Given the description of an element on the screen output the (x, y) to click on. 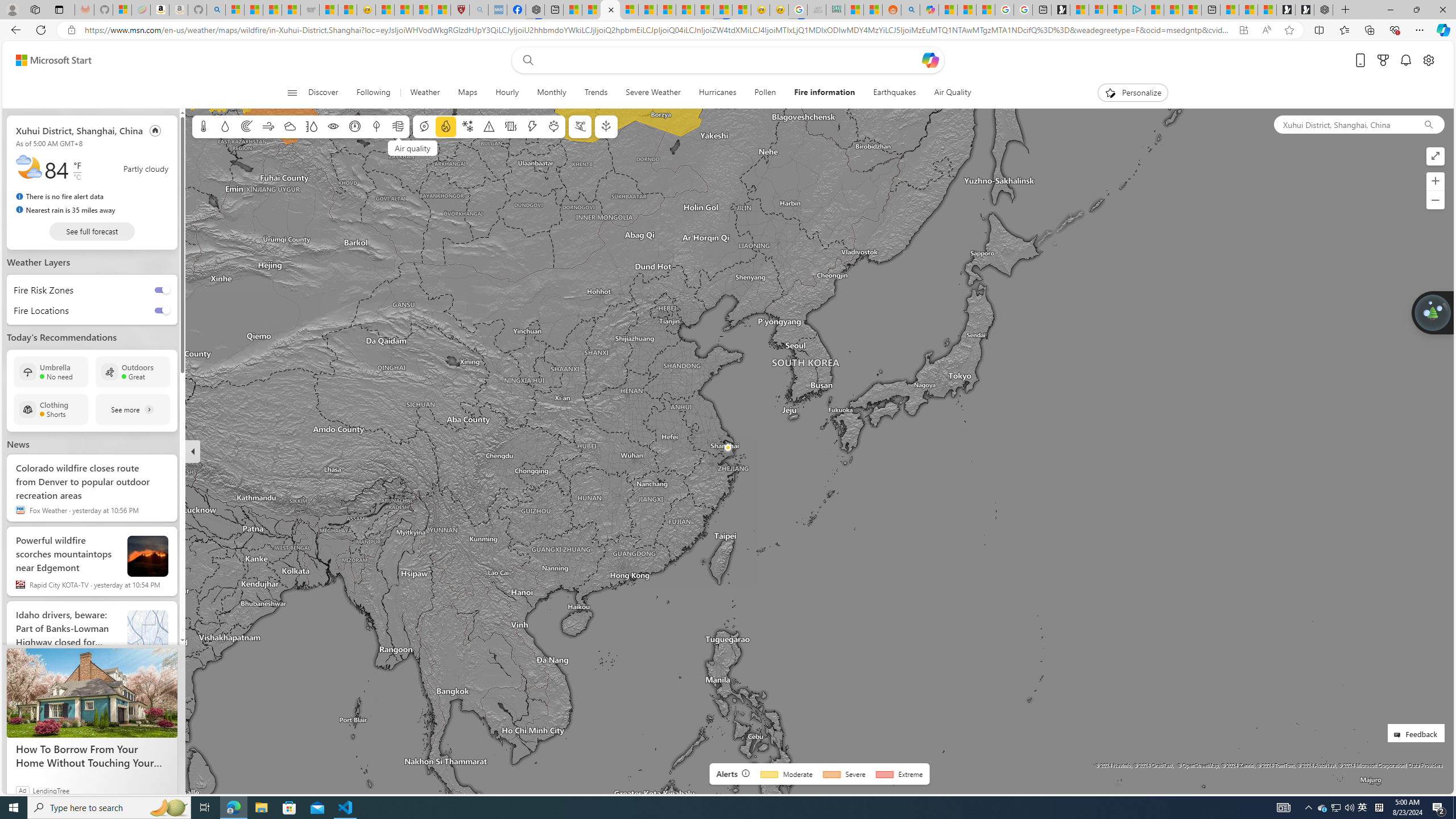
Enter full screen mode (1435, 156)
Precipitation (225, 126)
Sea level pressure (355, 126)
Air Quality (952, 92)
Xuhui District, Shanghai, China (79, 130)
Rapid City KOTA-TV (20, 583)
